Given the description of an element on the screen output the (x, y) to click on. 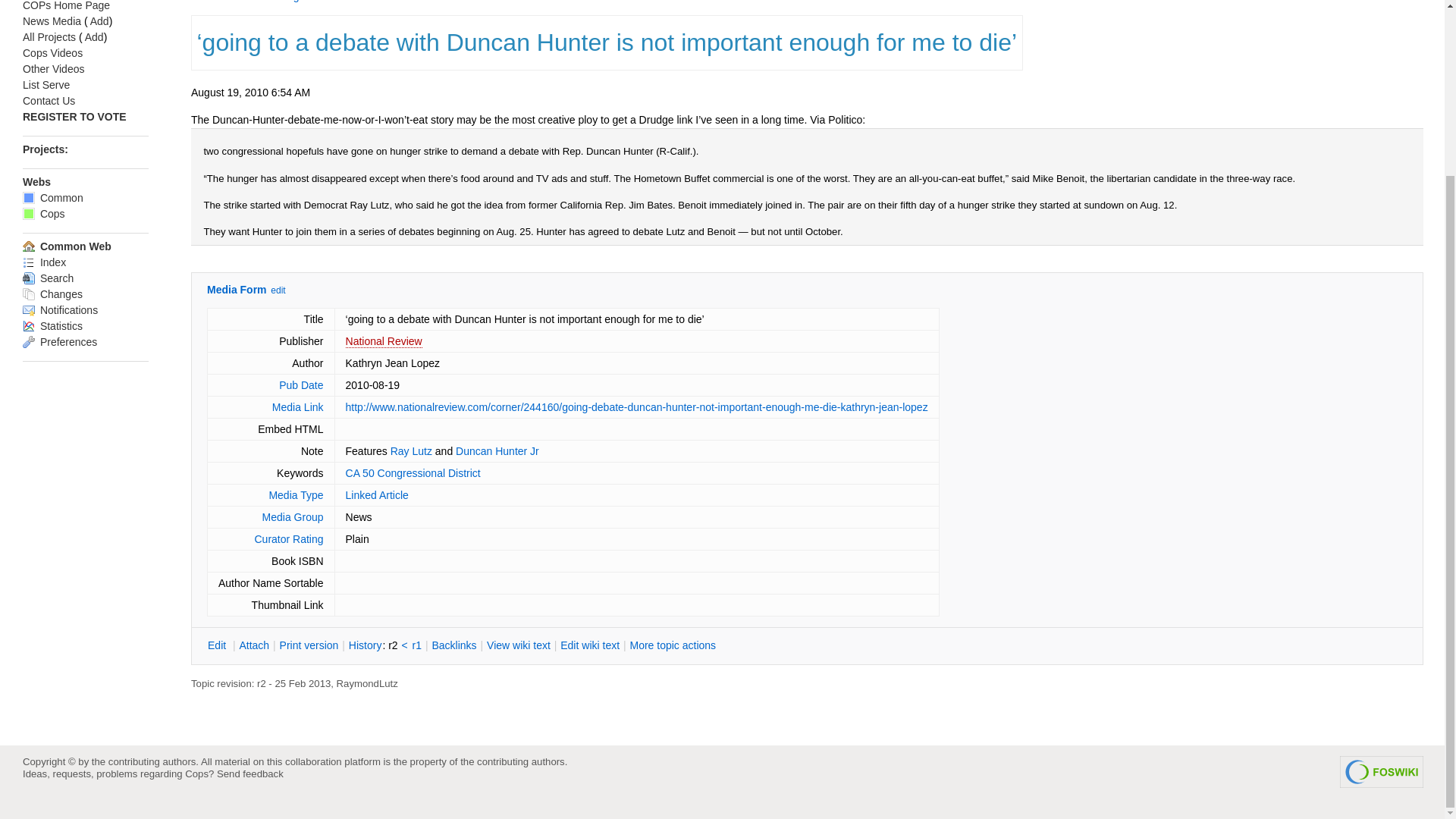
CA 50 Congressional District (309, 1)
August 19, 2010 6:54 AM (250, 92)
Media Link (297, 407)
Curator Rating (288, 539)
Duncan Hunter Jr (496, 451)
Create this topic (384, 341)
edit (277, 290)
Edit (218, 645)
Media Group (292, 517)
story (441, 119)
CA 50 Congressional District (413, 472)
Linked Article (377, 494)
National Review (384, 341)
Edit this topic text (218, 645)
Media Form (236, 289)
